Given the description of an element on the screen output the (x, y) to click on. 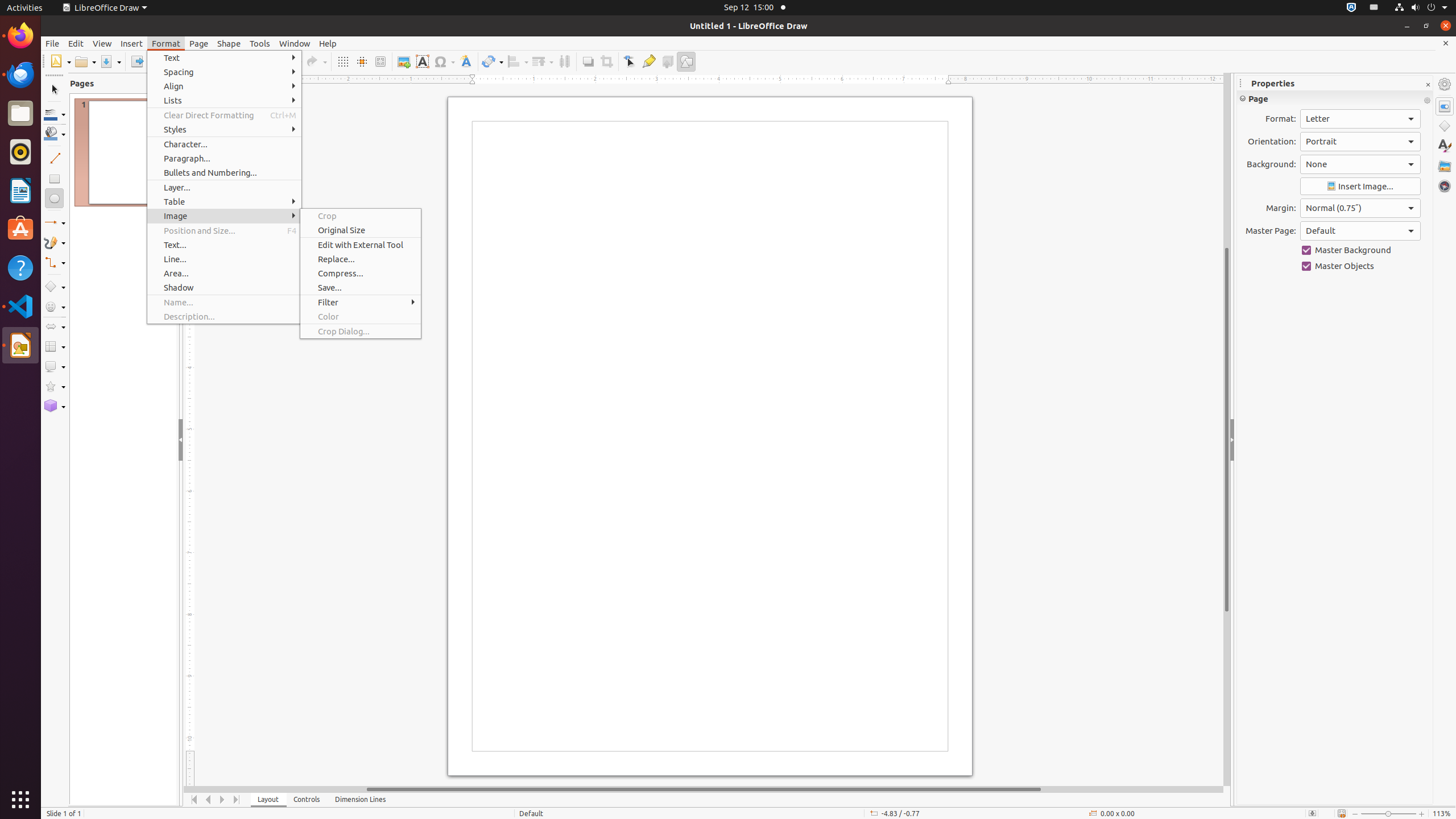
Visual Studio Code Element type: push-button (20, 306)
Color Element type: menu-item (360, 316)
Close Sidebar Deck Element type: push-button (1427, 84)
Save... Element type: menu-item (360, 287)
Move To Home Element type: push-button (194, 799)
